Given the description of an element on the screen output the (x, y) to click on. 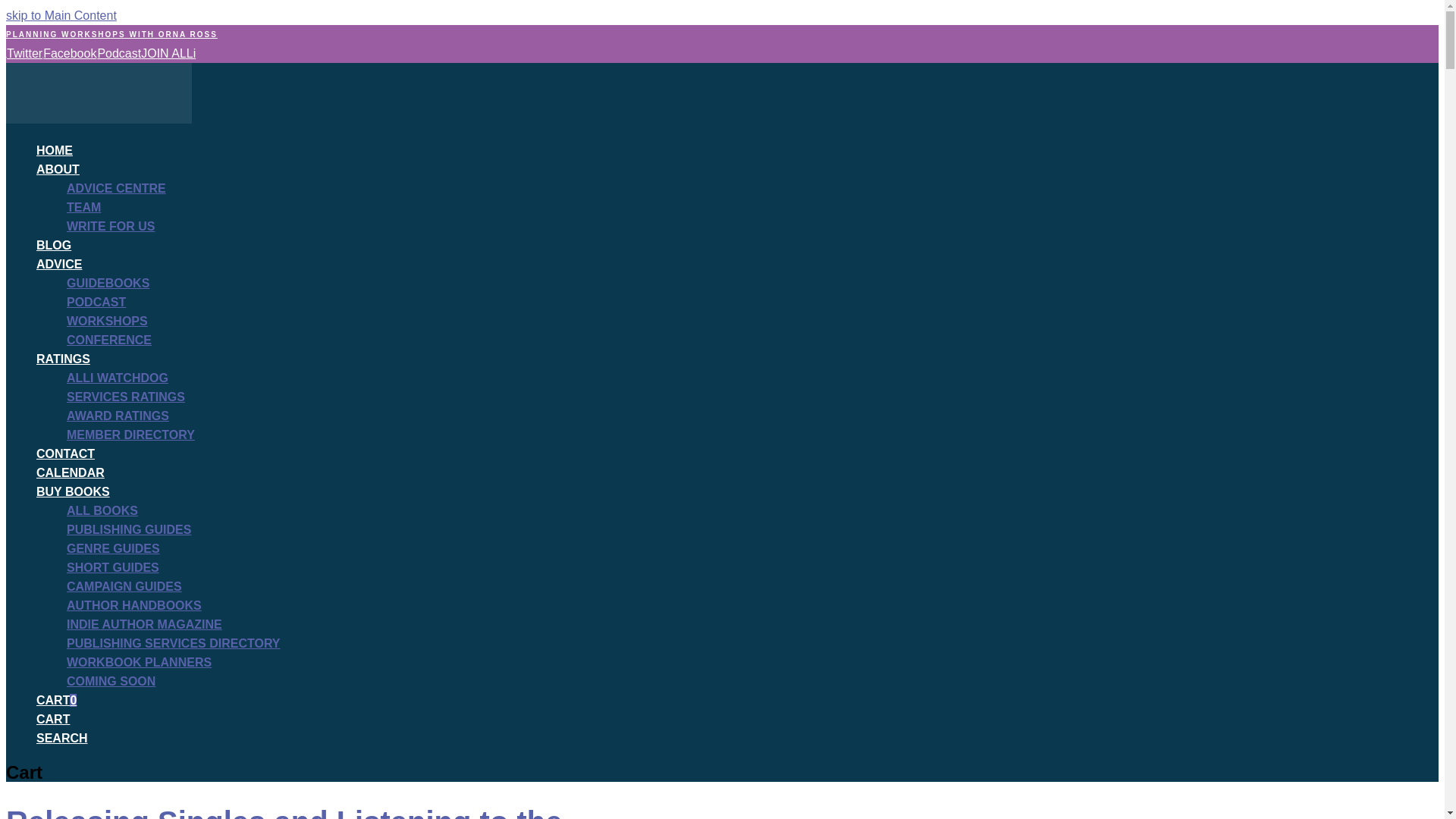
CONFERENCE (108, 339)
CALENDAR (70, 472)
CAMPAIGN GUIDES (124, 585)
Podcast (118, 52)
Twitter (23, 52)
ADVICE (58, 264)
CART0 (56, 699)
INDIE AUTHOR MAGAZINE (144, 624)
PUBLISHING GUIDES (128, 529)
ALL BOOKS (102, 510)
